Given the description of an element on the screen output the (x, y) to click on. 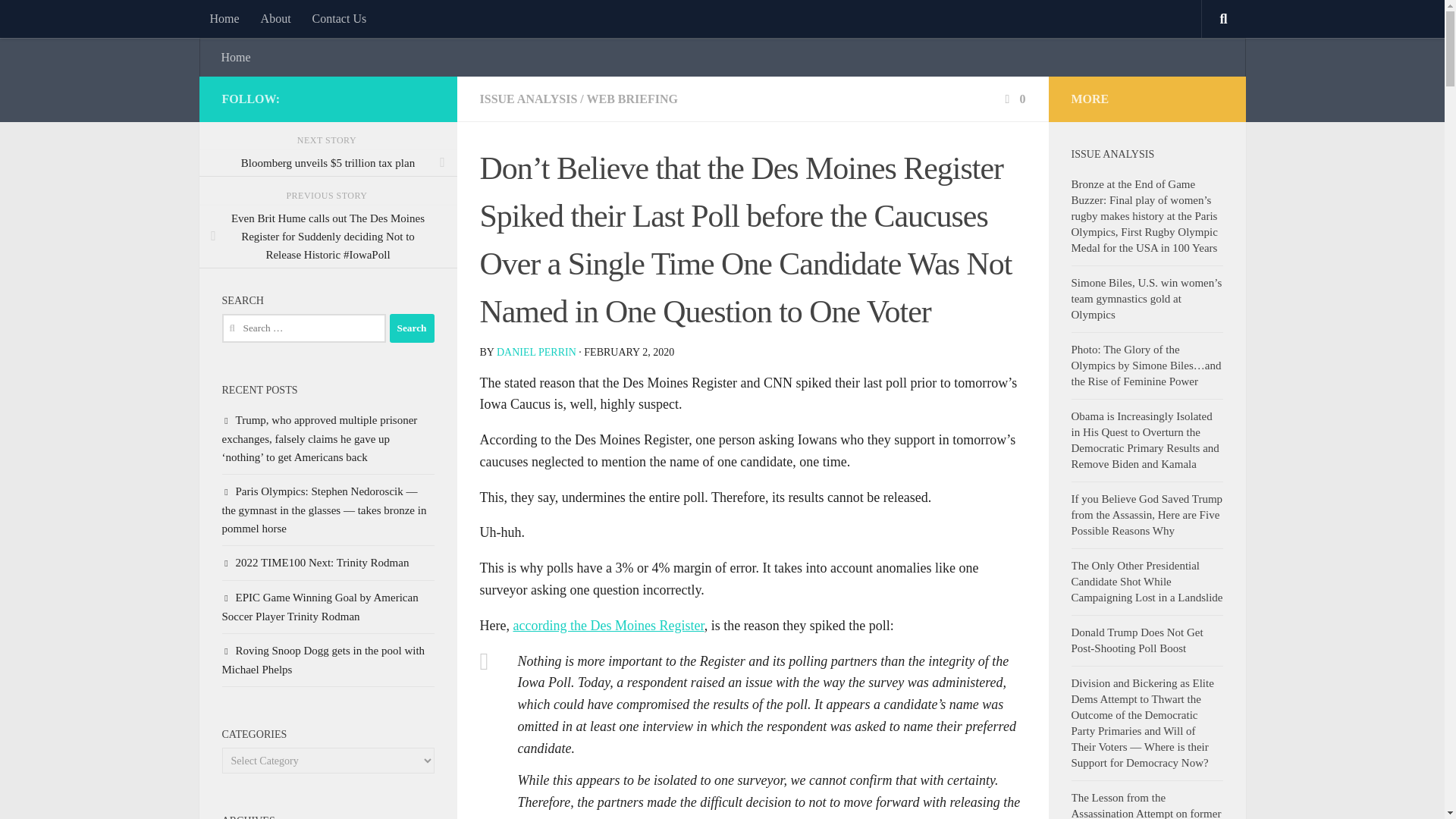
WEB BRIEFING (631, 98)
Home (223, 18)
Search (411, 328)
Contact Us (339, 18)
Search (411, 328)
Posts by Daniel Perrin (536, 351)
Home (236, 57)
About (275, 18)
ISSUE ANALYSIS (527, 98)
Skip to content (59, 20)
Search (411, 328)
DANIEL PERRIN (536, 351)
according the Des Moines Register (607, 625)
0 (1013, 98)
